Given the description of an element on the screen output the (x, y) to click on. 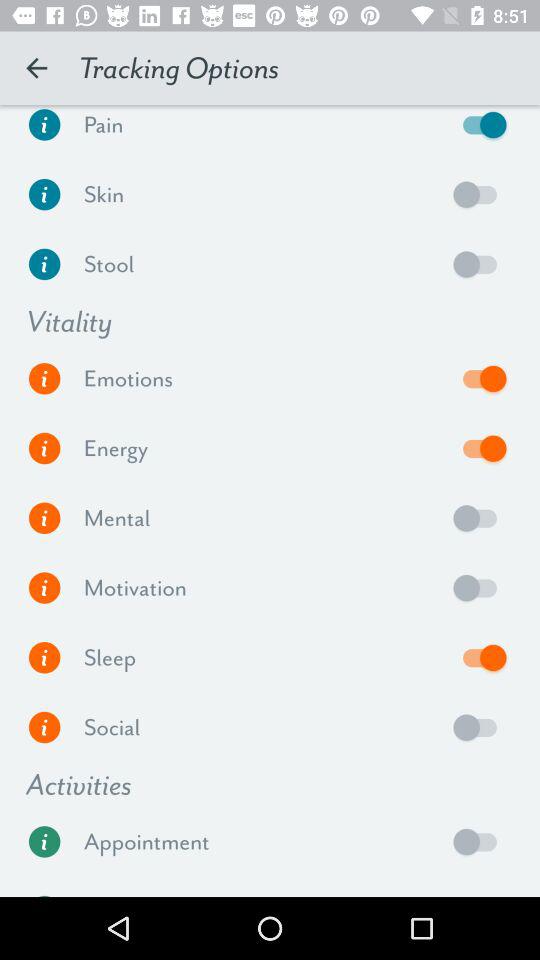
more information (44, 727)
